Given the description of an element on the screen output the (x, y) to click on. 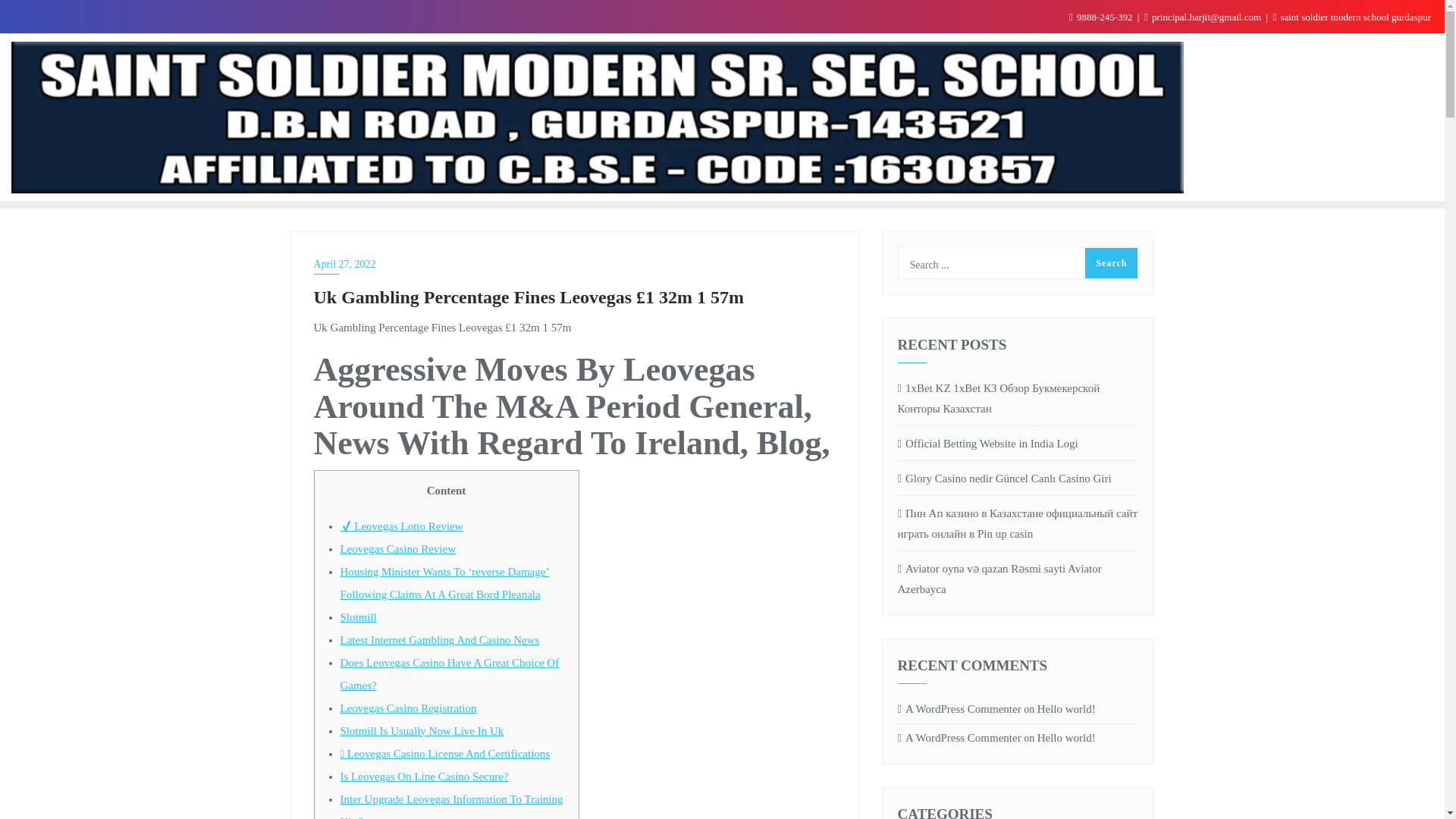
Does Leovegas Casino Have A Great Choice Of Games? (449, 673)
April 27, 2022 (574, 263)
Search (1110, 263)
Leovegas Casino Registration (407, 707)
Slotmill (357, 616)
Slotmill Is Usually Now Live In Uk (421, 730)
Search (1110, 263)
Leovegas Casino Review (396, 548)
Search (1110, 263)
Latest Internet Gambling And Casino News (438, 639)
Inter Upgrade Leovegas Information To Training Kit Sponsor (450, 806)
Is Leovegas On Line Casino Secure? (423, 776)
